Given the description of an element on the screen output the (x, y) to click on. 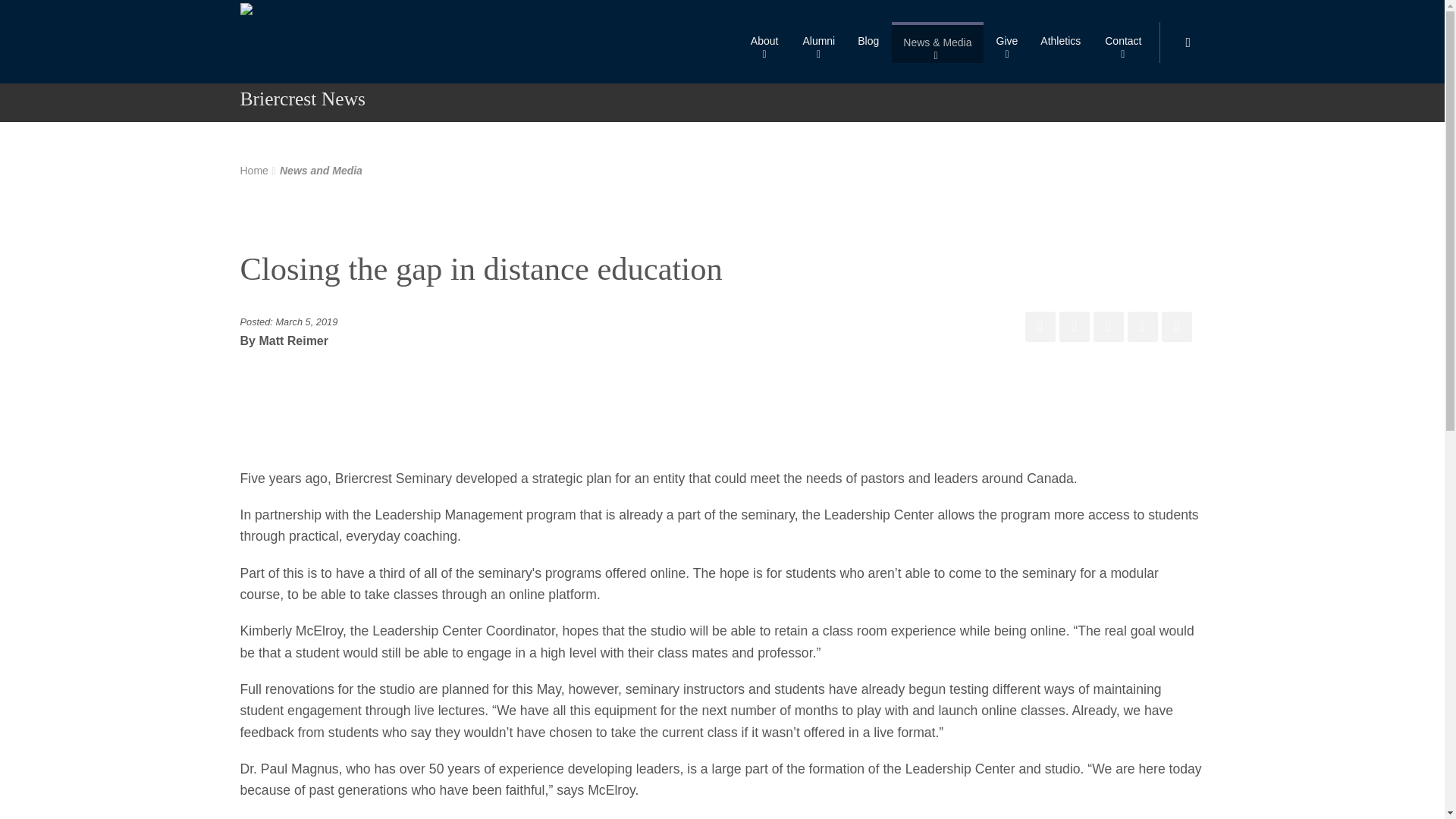
share this to my Twitter account (1073, 327)
Give (1007, 42)
About (764, 42)
Contact (1123, 42)
Athletics (1060, 42)
Athletics (1060, 42)
About (764, 42)
Blog (867, 42)
email a link to this (1176, 327)
Alumni (817, 42)
share this to LinkedIn (1141, 327)
Alumni (817, 42)
share this to my Facebook page (1040, 327)
share this to Pinterest (1108, 327)
Contact (1123, 42)
